Given the description of an element on the screen output the (x, y) to click on. 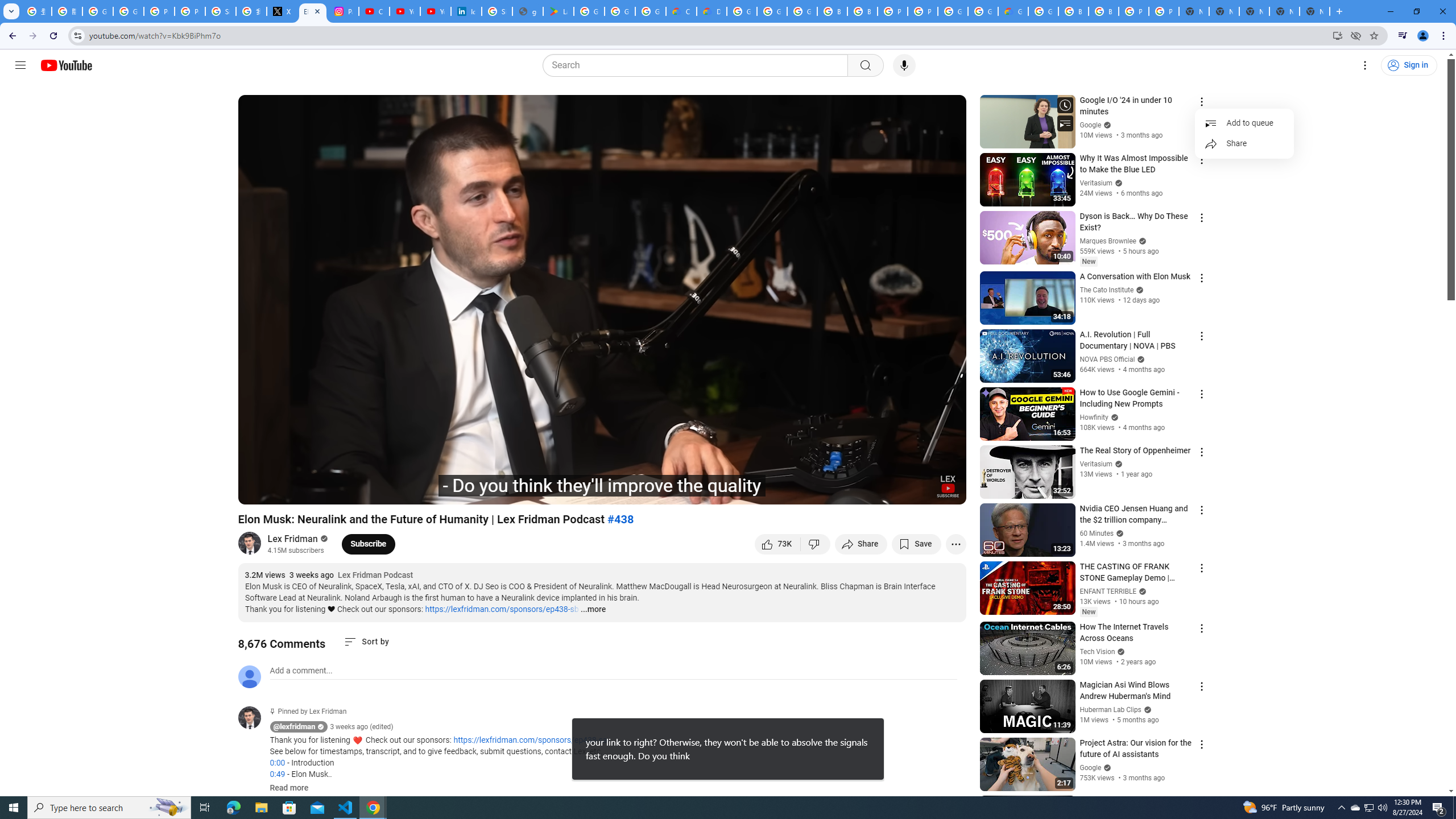
Google Cloud Platform (741, 11)
Add to queue (1243, 123)
@lexfridman (253, 717)
Share (1243, 143)
More actions (955, 543)
Google Cloud Platform (952, 11)
Guide (20, 65)
New (1087, 611)
